Given the description of an element on the screen output the (x, y) to click on. 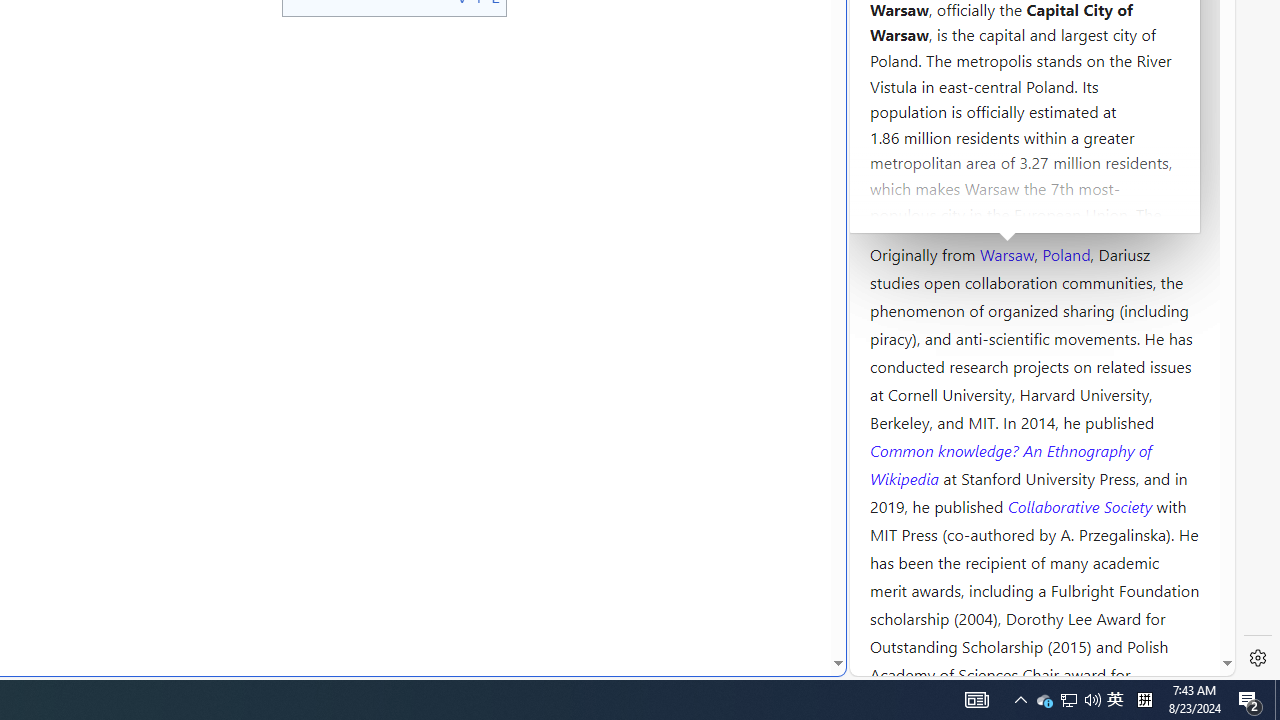
MSN (687, 223)
google_privacy_policy_zh-CN.pdf (687, 482)
Kozminski University (1034, 136)
Poland (1065, 253)
Global web icon (888, 663)
Actions for this site (1129, 306)
Collaborative Society  (1082, 505)
Harvard University (934, 205)
